Given the description of an element on the screen output the (x, y) to click on. 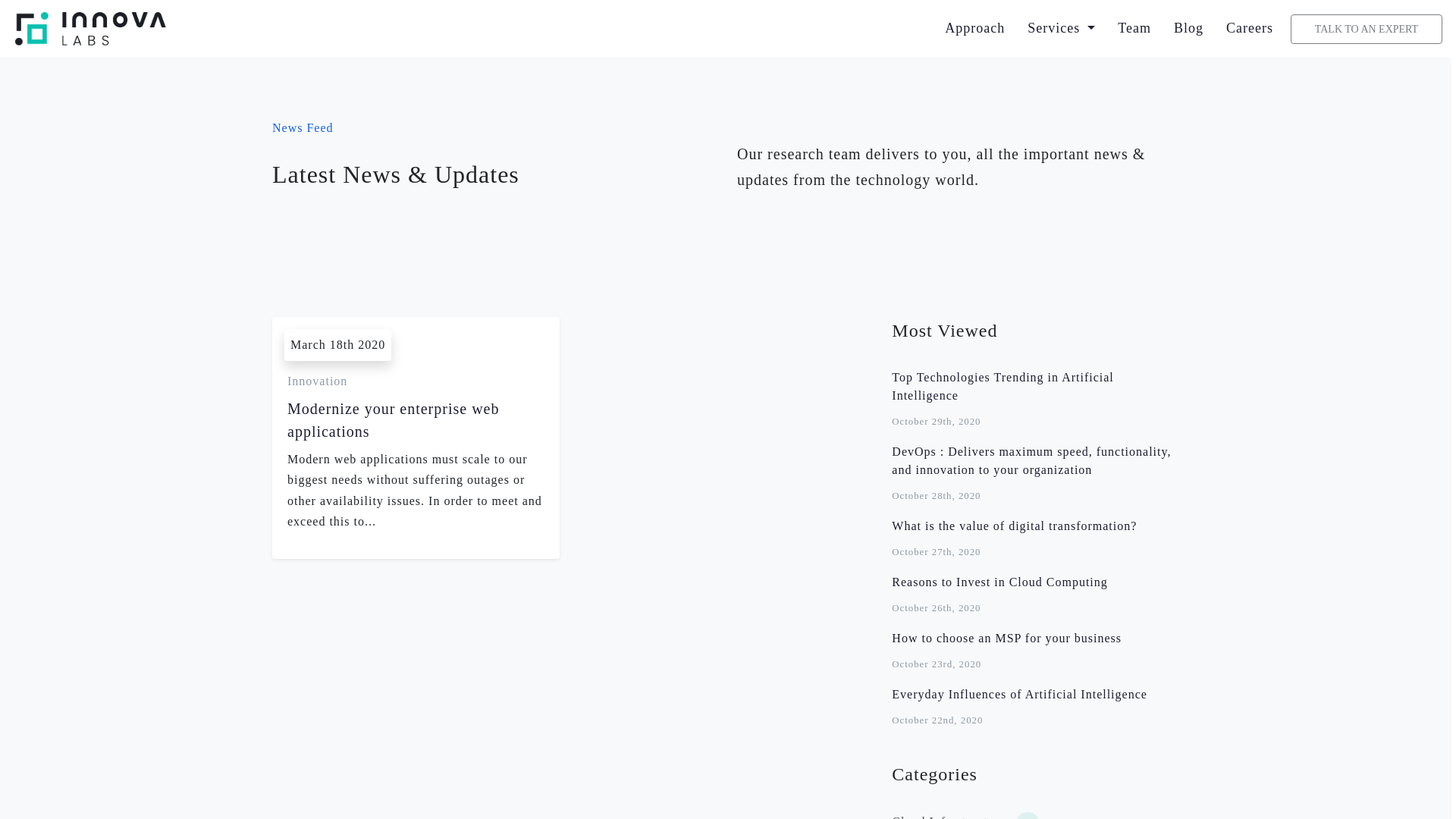
Approach (974, 28)
Services (1060, 28)
What is the value of digital transformation? (1014, 525)
How to choose an MSP for your business (1006, 637)
Innovation (316, 381)
October 27th, 2020 (935, 552)
Blog (1188, 28)
TALK TO AN EXPERT (1366, 28)
Cloud Infrastructure 38 (1035, 815)
October 28th, 2020 (935, 496)
